Given the description of an element on the screen output the (x, y) to click on. 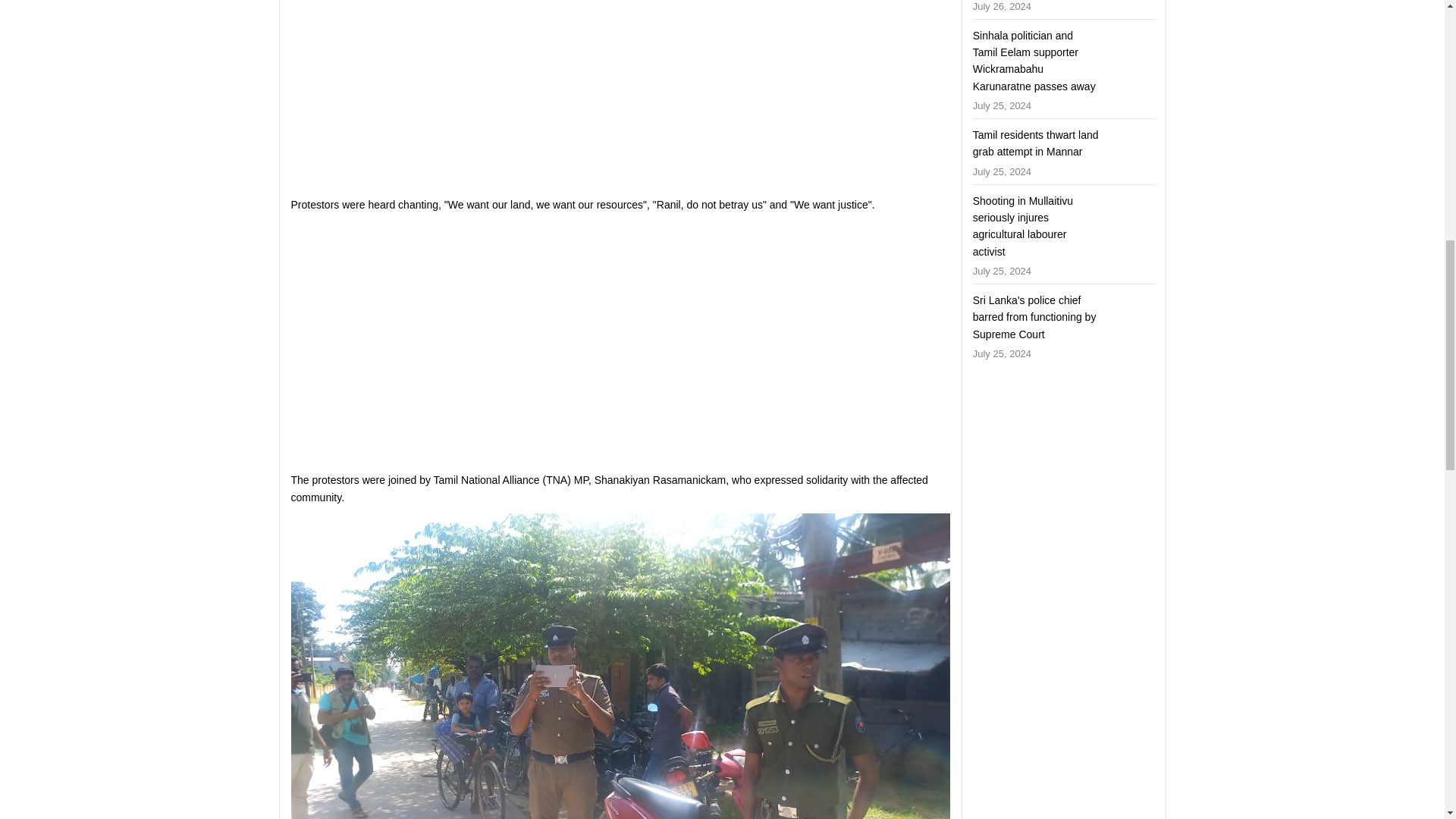
YouTube video player (503, 91)
YouTube video player (503, 339)
